Given the description of an element on the screen output the (x, y) to click on. 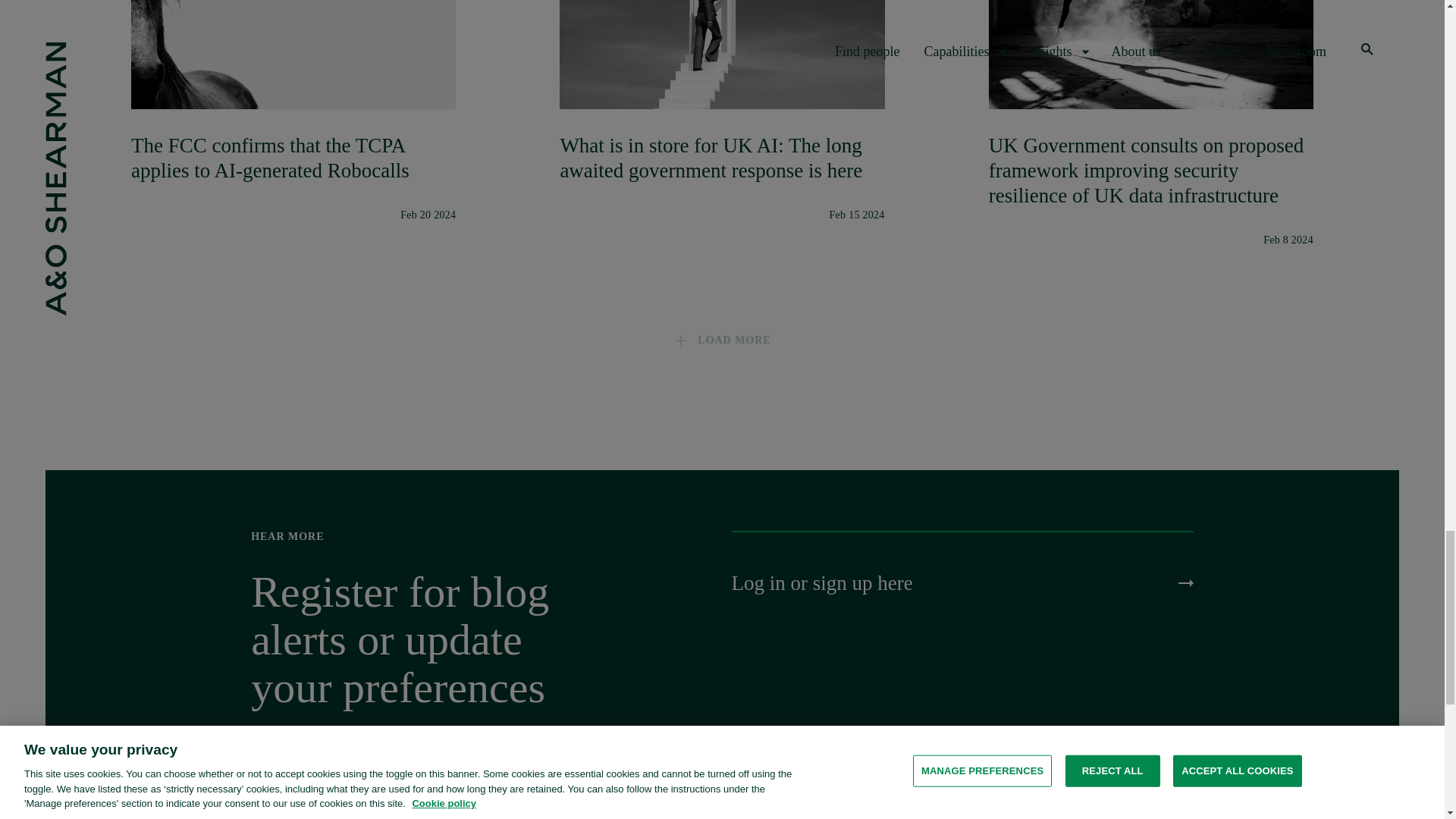
Log in or sign up here (961, 583)
LOAD MORE (721, 340)
